Given the description of an element on the screen output the (x, y) to click on. 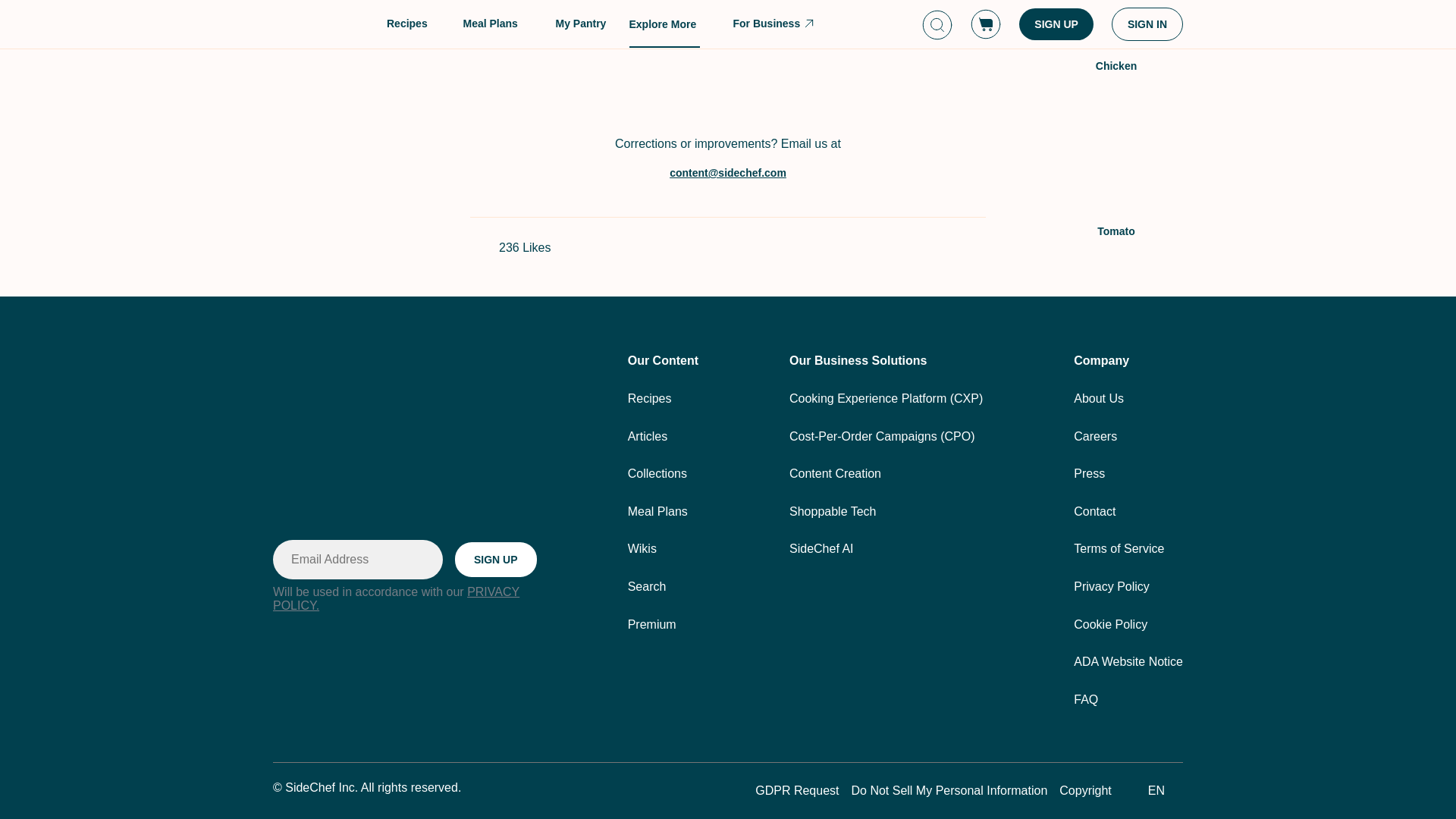
SIGN UP (495, 559)
